Given the description of an element on the screen output the (x, y) to click on. 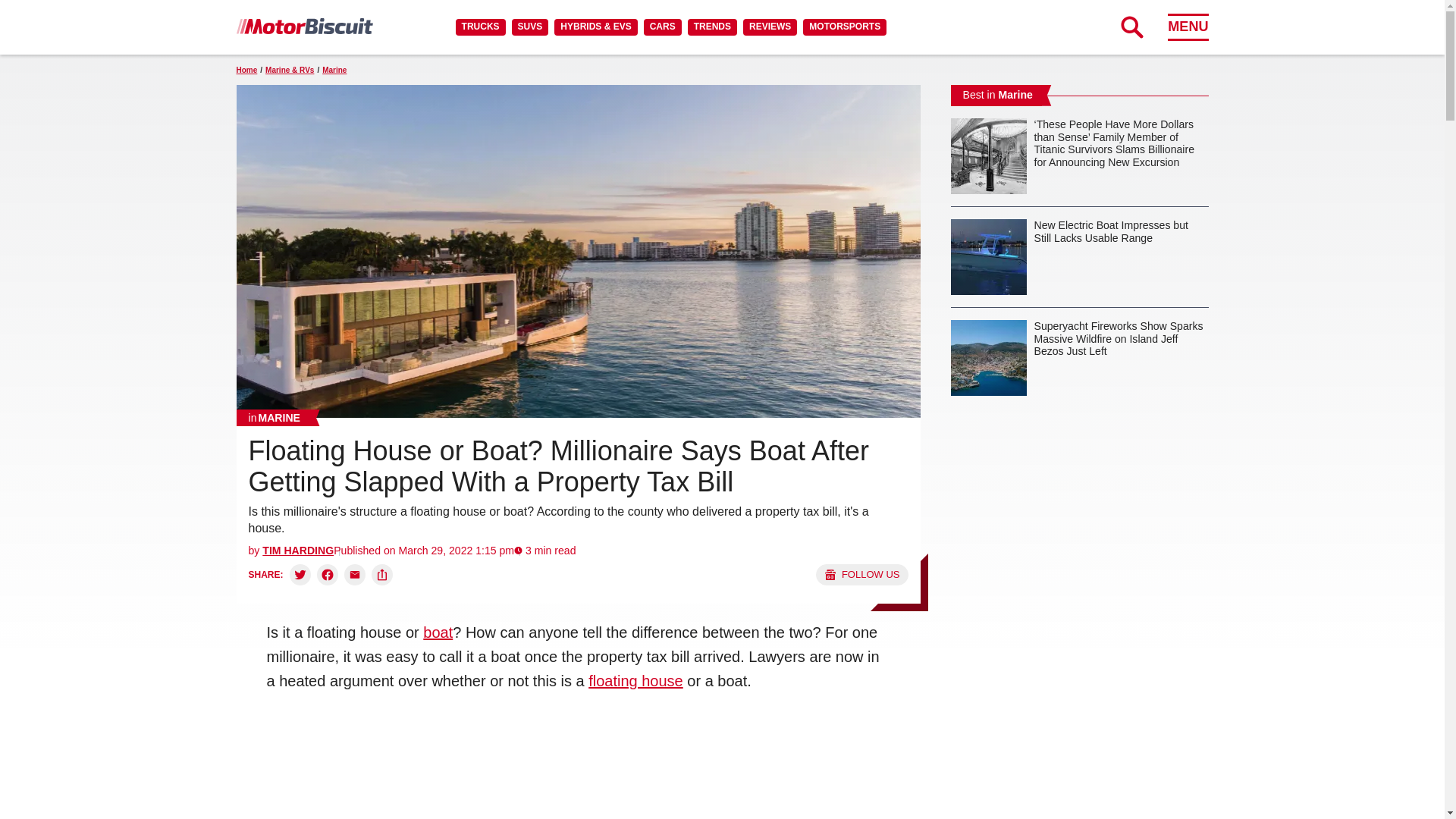
Marine (274, 417)
REVIEWS (769, 26)
Copy link and share:  (382, 574)
MOTORSPORTS (844, 26)
MENU (1187, 26)
SUVS (530, 26)
TRUCKS (480, 26)
TRENDS (711, 26)
CARS (662, 26)
Expand Search (1131, 26)
MotorBiscuit (303, 26)
Follow us on Google News (861, 574)
